Given the description of an element on the screen output the (x, y) to click on. 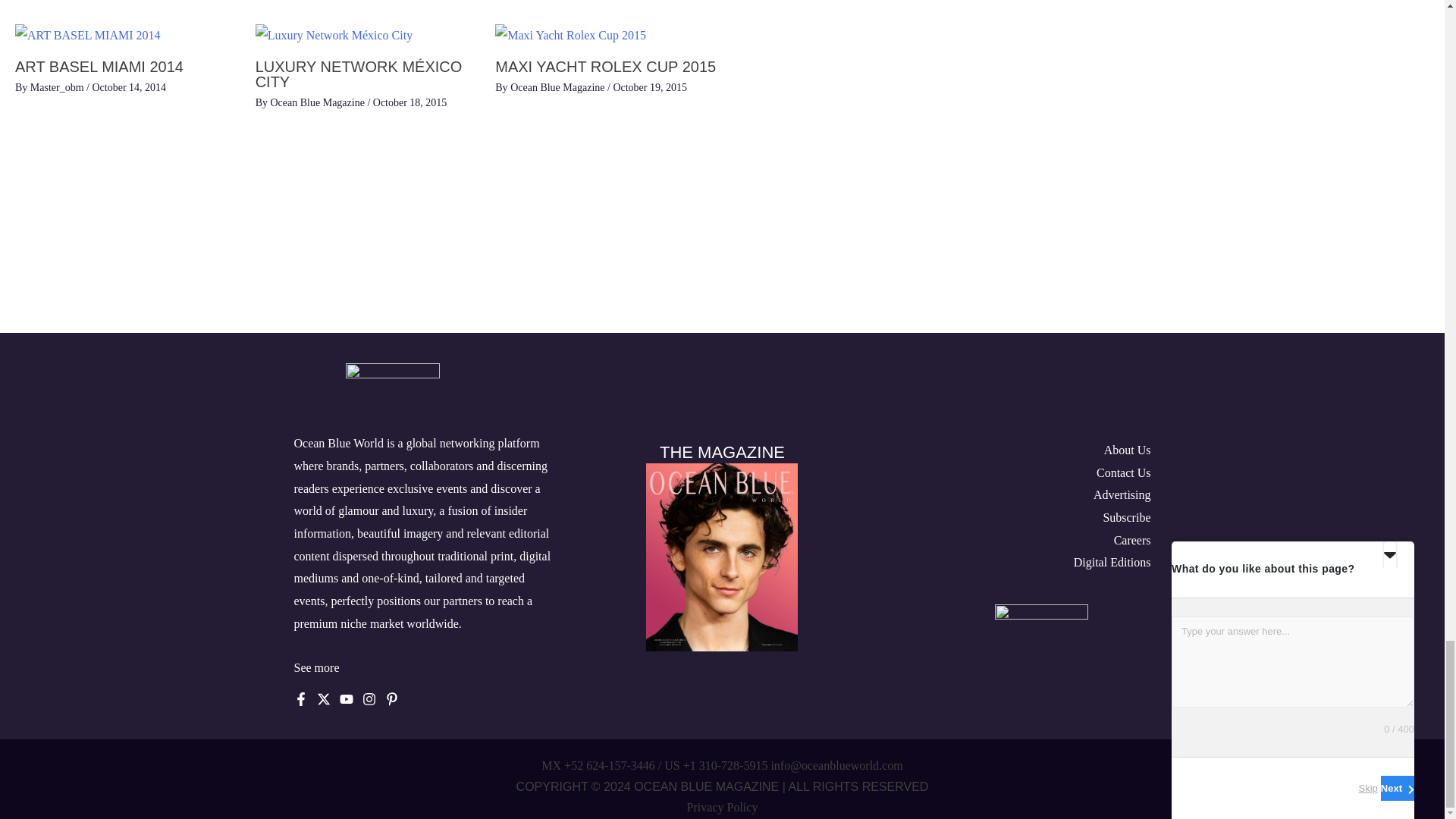
View all posts by Ocean Blue Magazine (559, 87)
View all posts by Ocean Blue Magazine (317, 102)
